Given the description of an element on the screen output the (x, y) to click on. 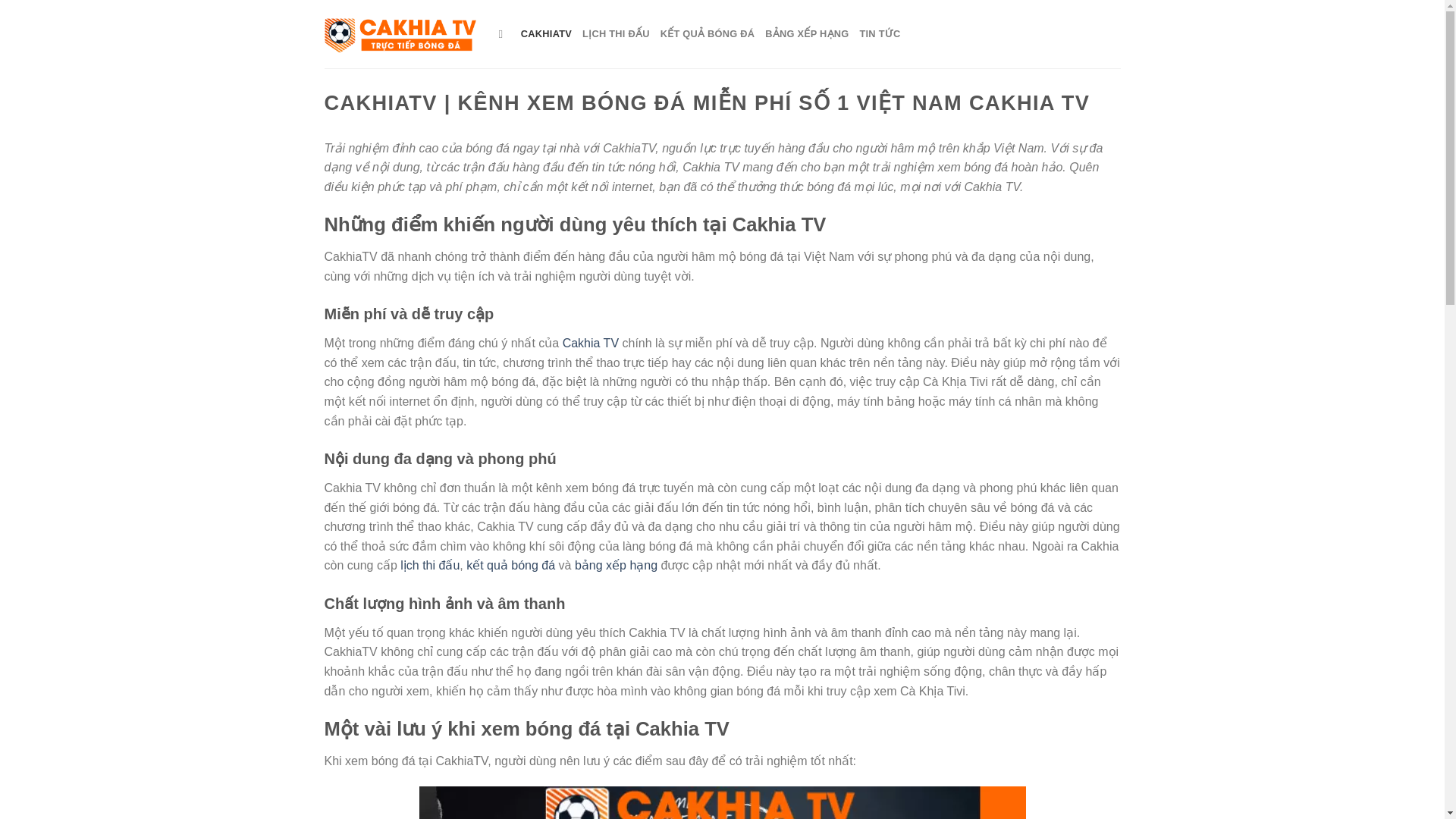
CAKHIATV (546, 33)
Cakhia TV (590, 342)
